Given the description of an element on the screen output the (x, y) to click on. 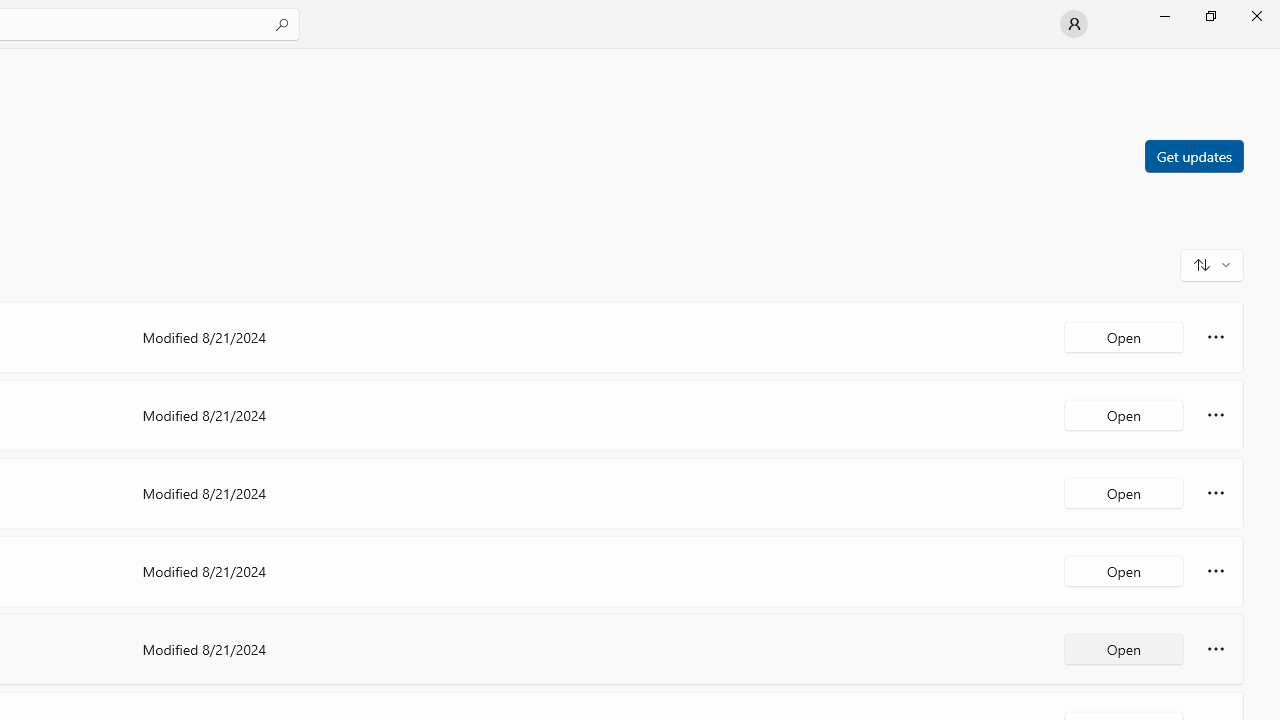
Open (1123, 648)
Sort and filter (1212, 263)
More options (1215, 648)
Get updates (1193, 155)
